Given the description of an element on the screen output the (x, y) to click on. 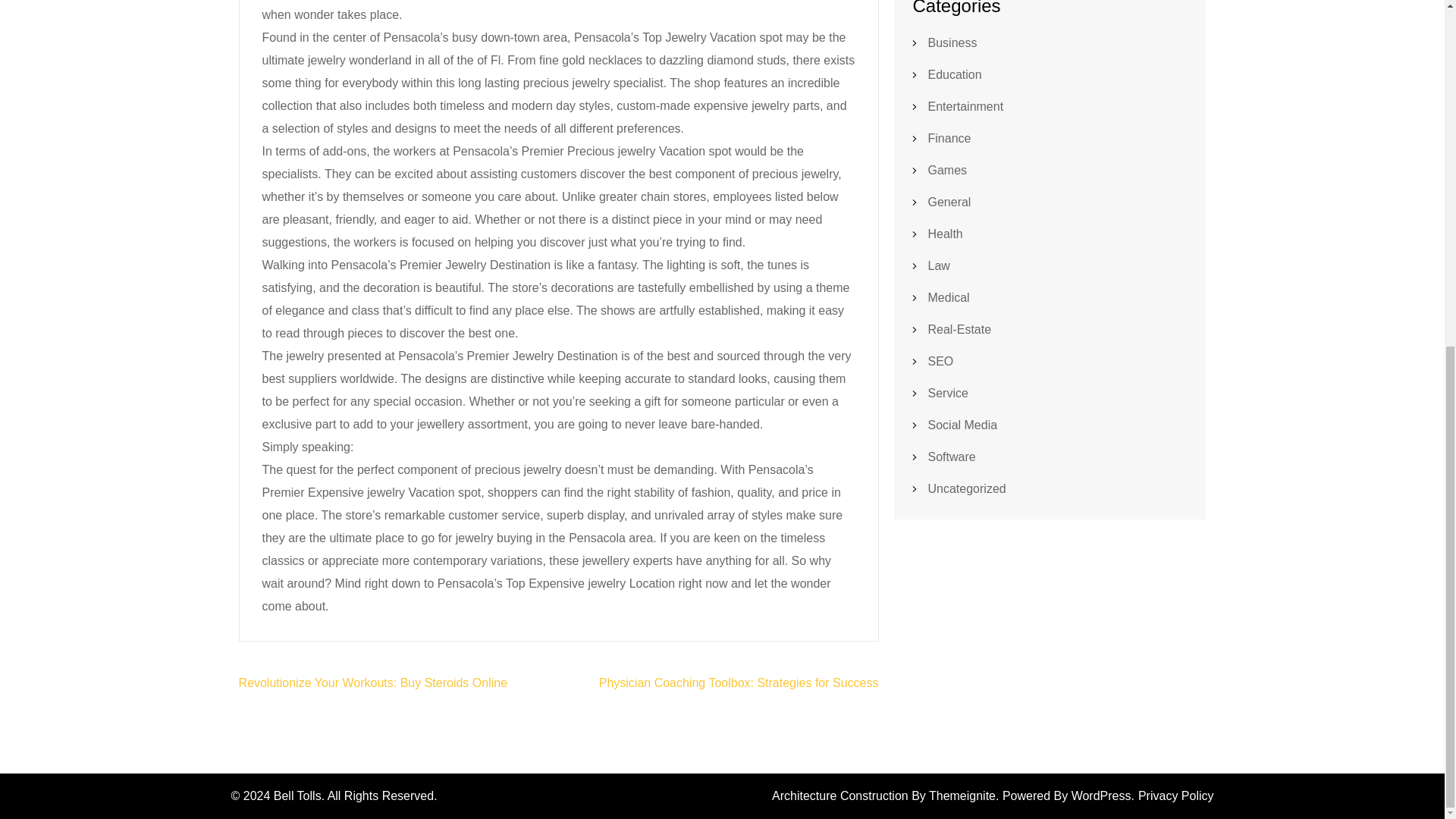
Finance (949, 137)
SEO (940, 360)
Medical (948, 297)
Law (939, 265)
Physician Coaching Toolbox: Strategies for Success (738, 682)
Real-Estate (959, 328)
Games (948, 169)
Software (951, 456)
Education (954, 74)
Uncategorized (967, 488)
